Given the description of an element on the screen output the (x, y) to click on. 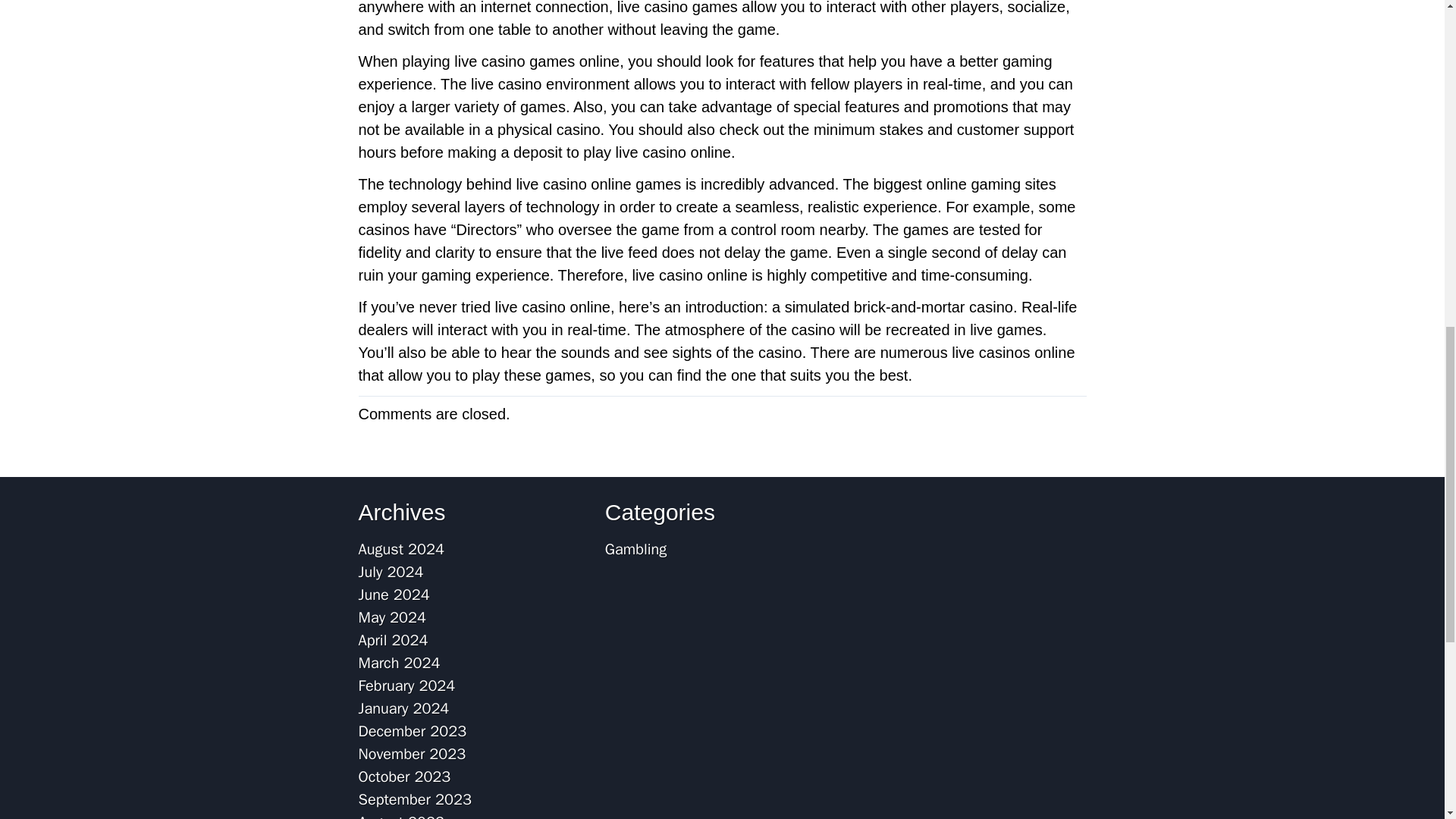
February 2024 (406, 685)
April 2024 (393, 640)
September 2023 (414, 799)
May 2024 (392, 617)
October 2023 (403, 776)
Gambling (635, 548)
December 2023 (411, 731)
July 2024 (390, 571)
March 2024 (398, 662)
November 2023 (411, 753)
